Given the description of an element on the screen output the (x, y) to click on. 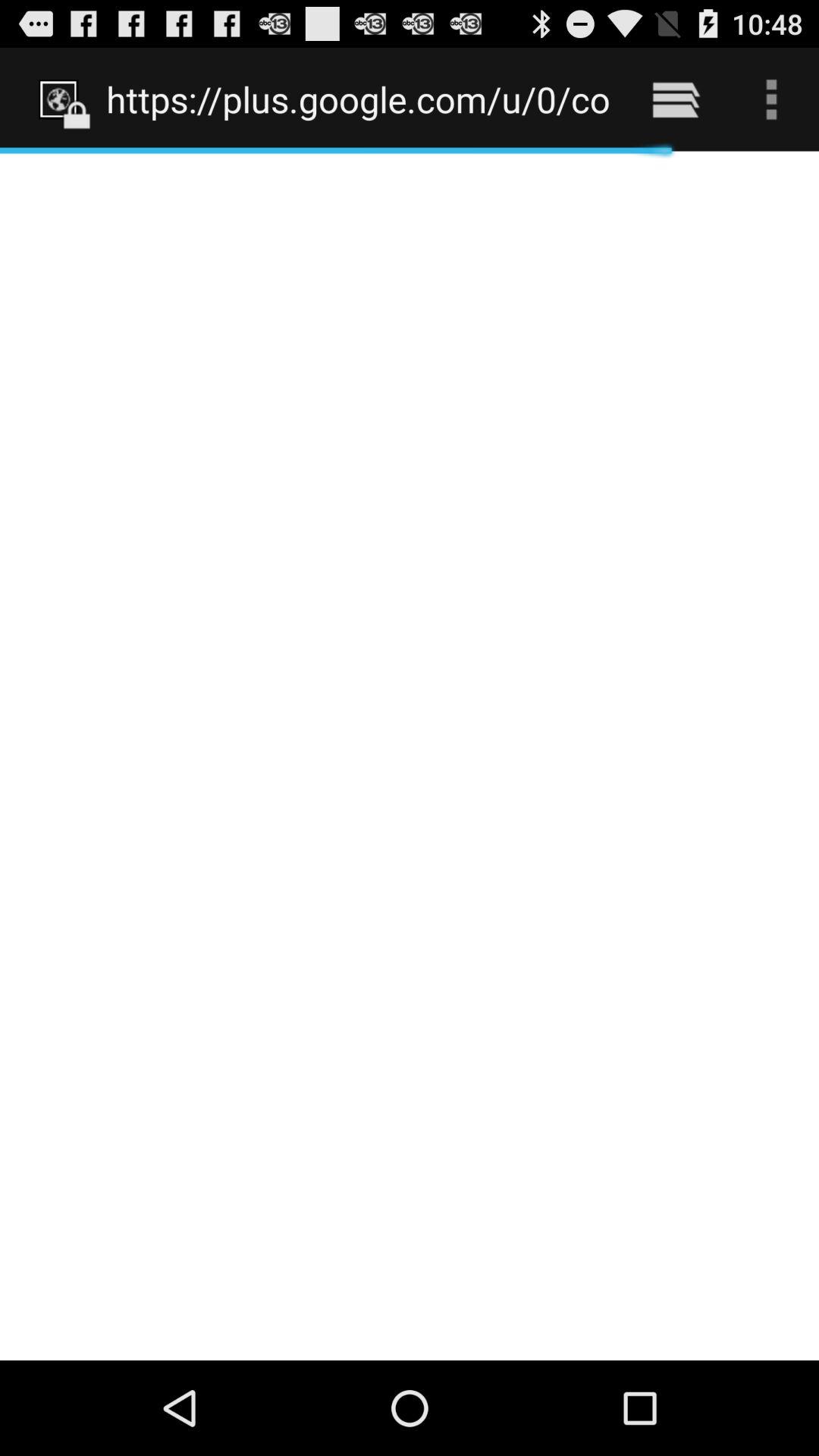
scroll until the https plus google (357, 99)
